Given the description of an element on the screen output the (x, y) to click on. 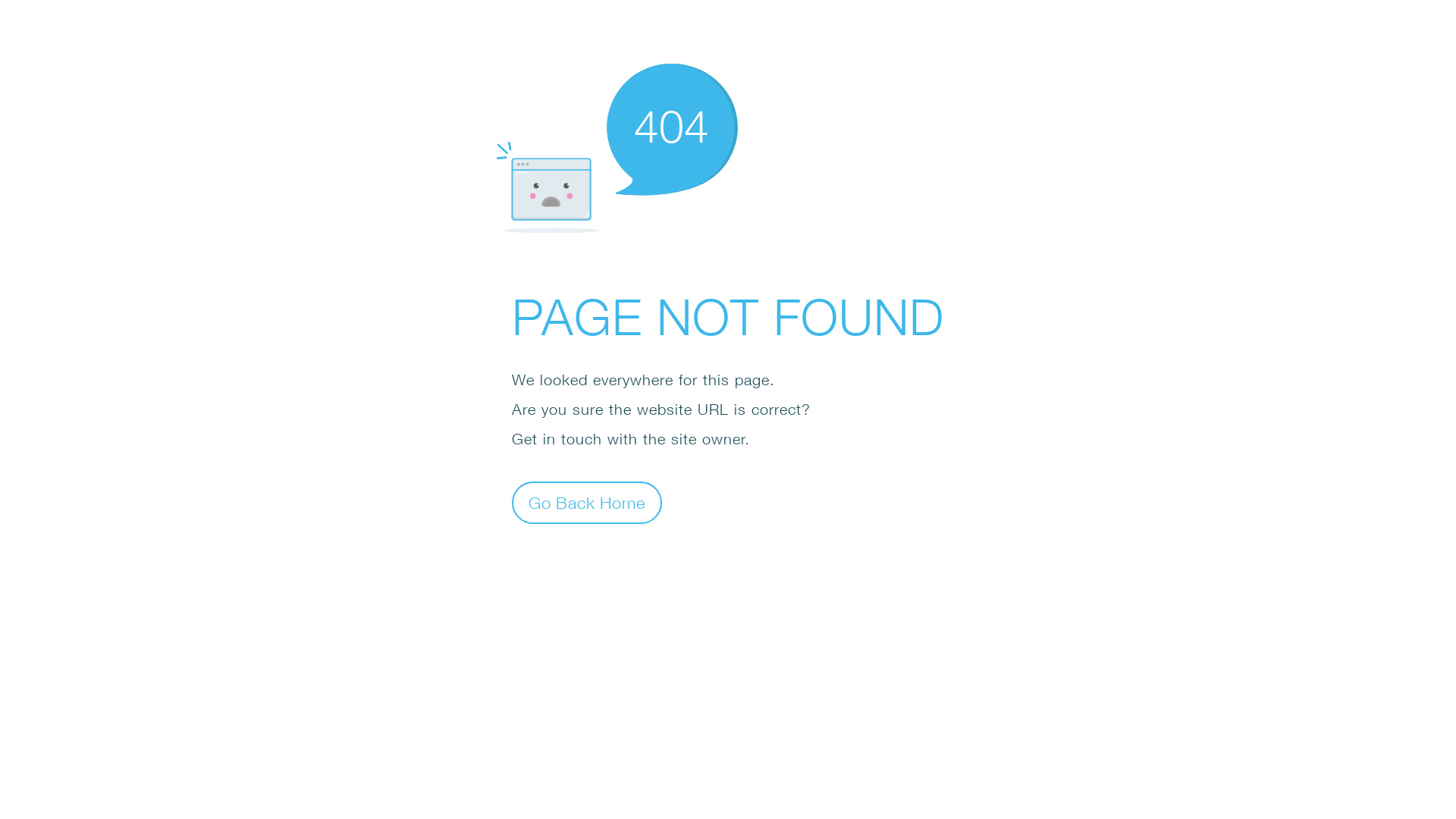
Go Back Home Element type: text (586, 502)
